Given the description of an element on the screen output the (x, y) to click on. 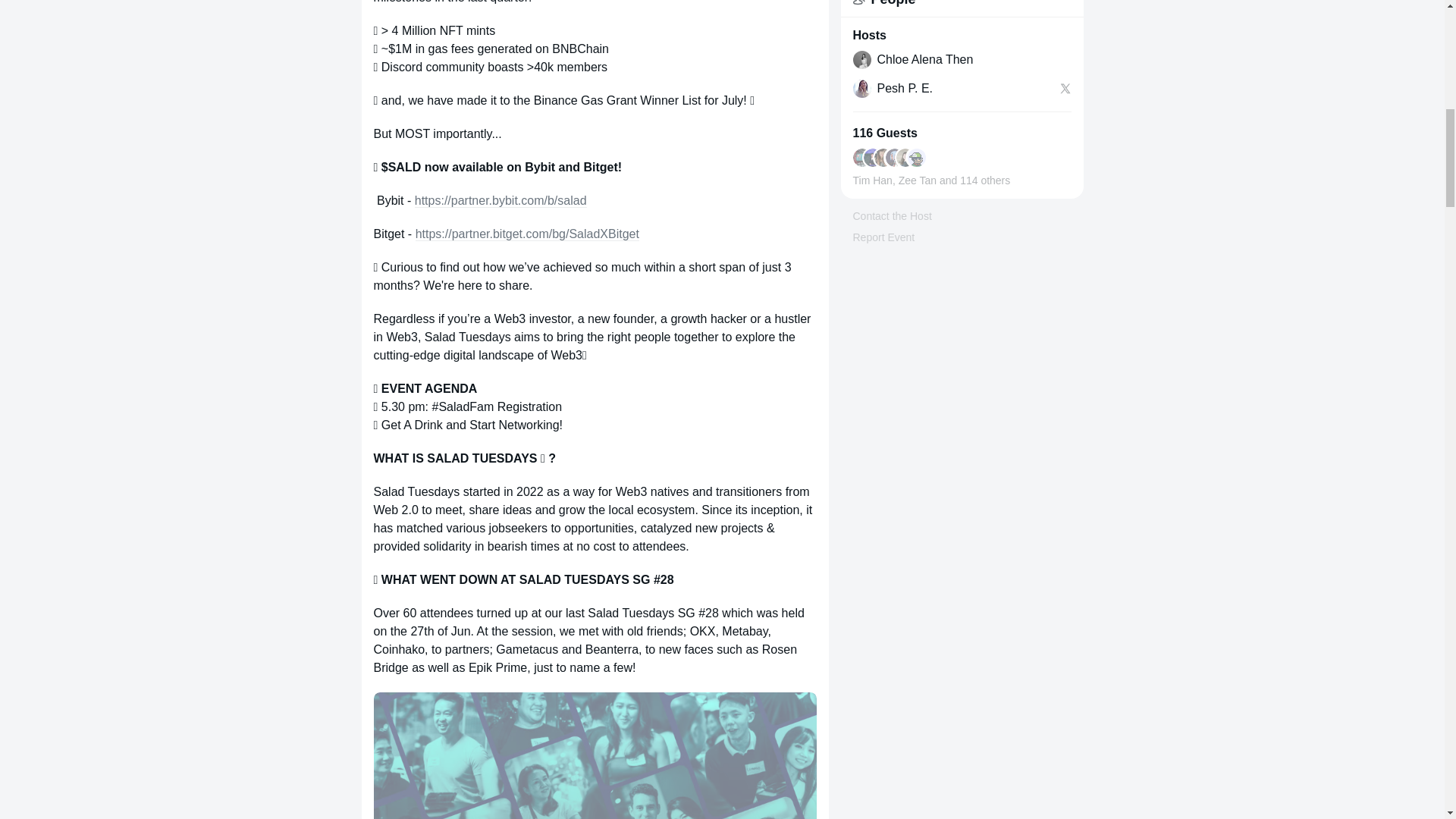
Contact the Host (891, 215)
Report Event (882, 236)
Pesh P. E. (904, 88)
Pesh P. E. (951, 88)
Tim Han, Zee Tan and 114 others (930, 168)
Chloe Alena Then (924, 59)
Chloe Alena Then (960, 59)
